Given the description of an element on the screen output the (x, y) to click on. 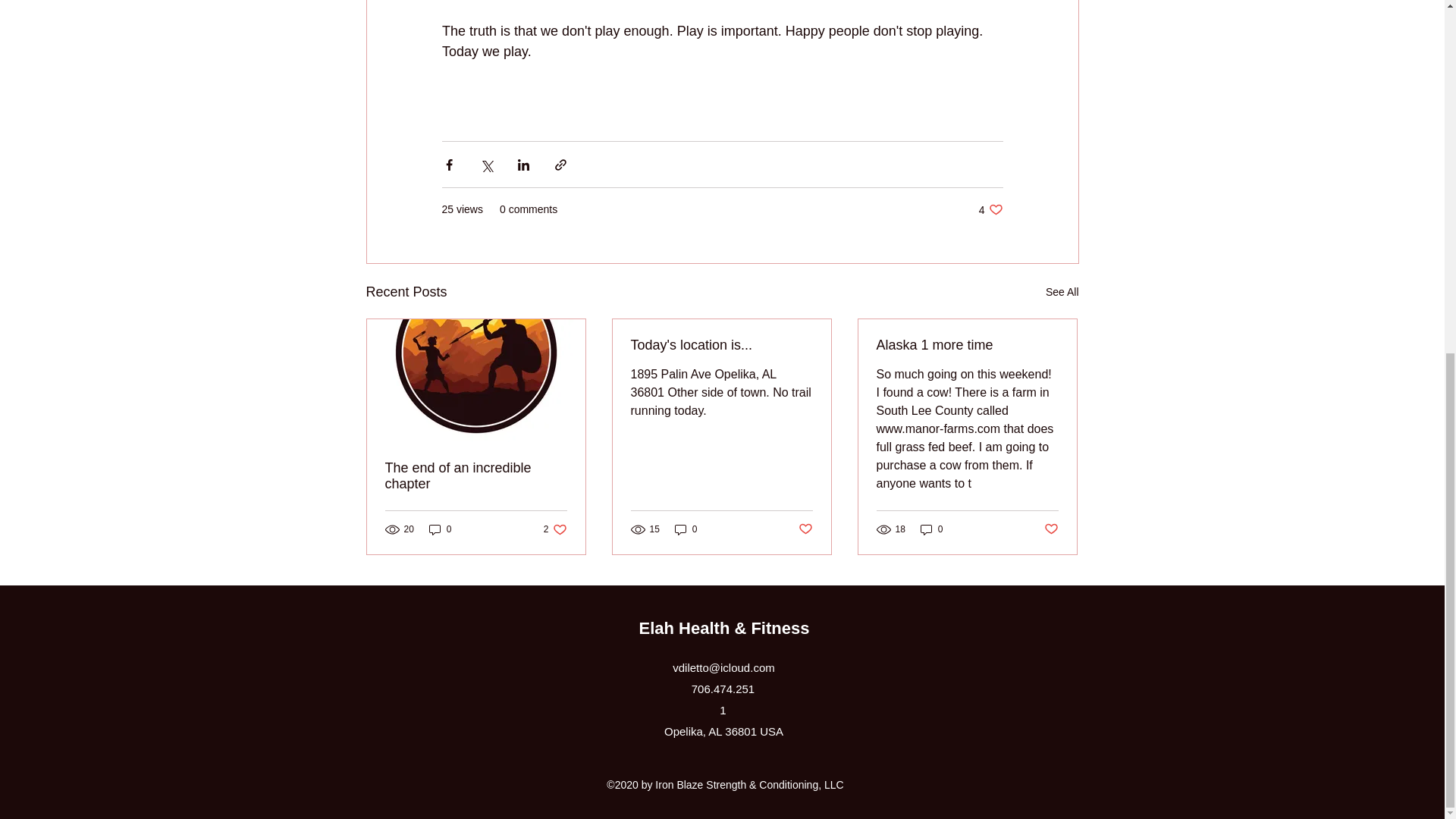
Alaska 1 more time (967, 344)
0 (440, 529)
Today's location is... (721, 344)
0 (931, 529)
The end of an incredible chapter (476, 476)
0 (685, 529)
Post not marked as liked (555, 529)
See All (804, 529)
Post not marked as liked (1061, 292)
